Given the description of an element on the screen output the (x, y) to click on. 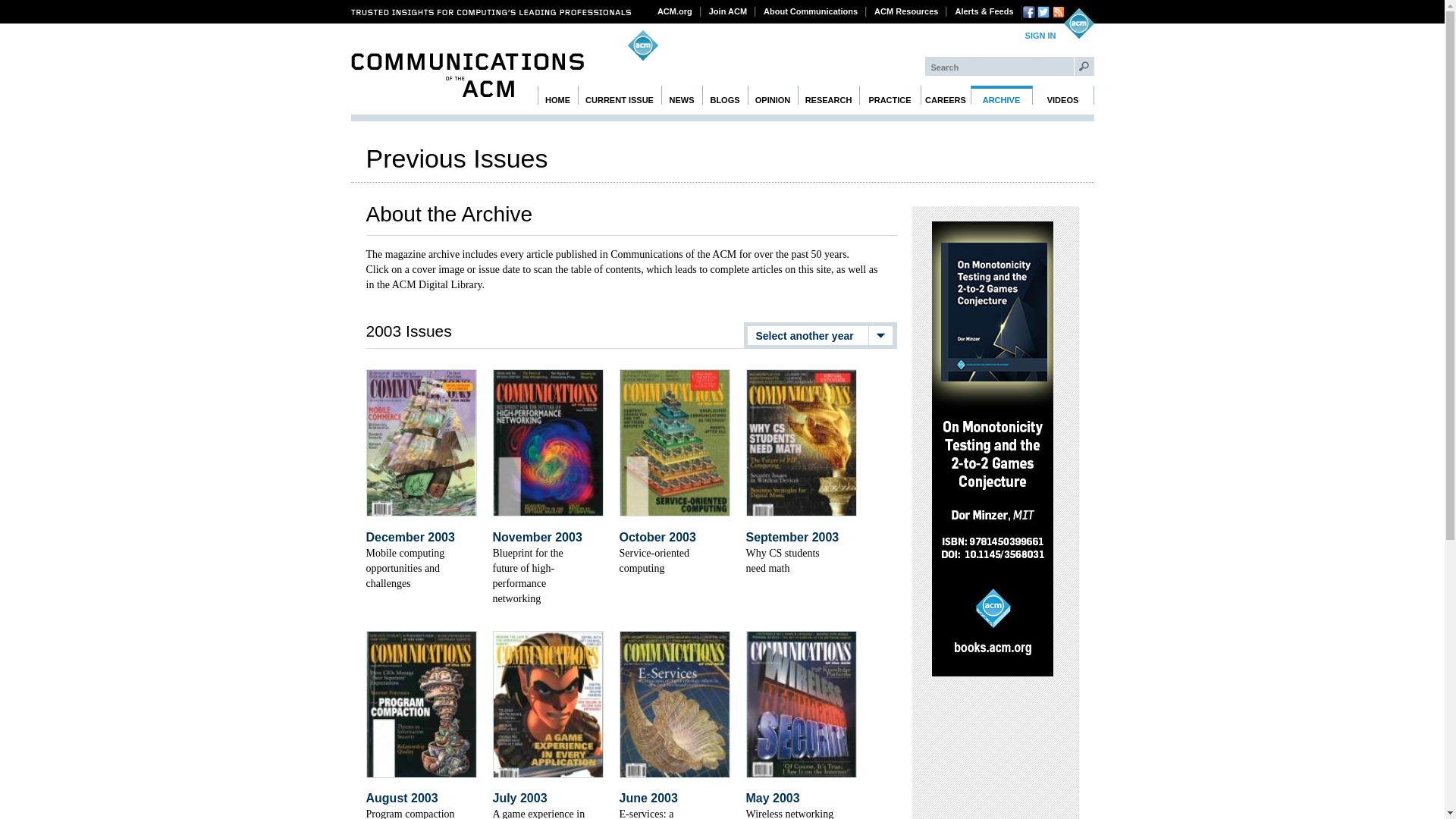
HOME (557, 94)
About Communications (810, 11)
Login (1041, 35)
CAREERS (945, 94)
RESEARCH (828, 94)
OPINION (772, 94)
Communications of the ACM (466, 75)
ACM Resources (906, 11)
About Communications (810, 11)
BLOGS (724, 94)
PRACTICE (889, 94)
Communications of the ACM (466, 75)
SIGN IN (1041, 35)
ACM (1077, 23)
ACM.org (674, 11)
